Given the description of an element on the screen output the (x, y) to click on. 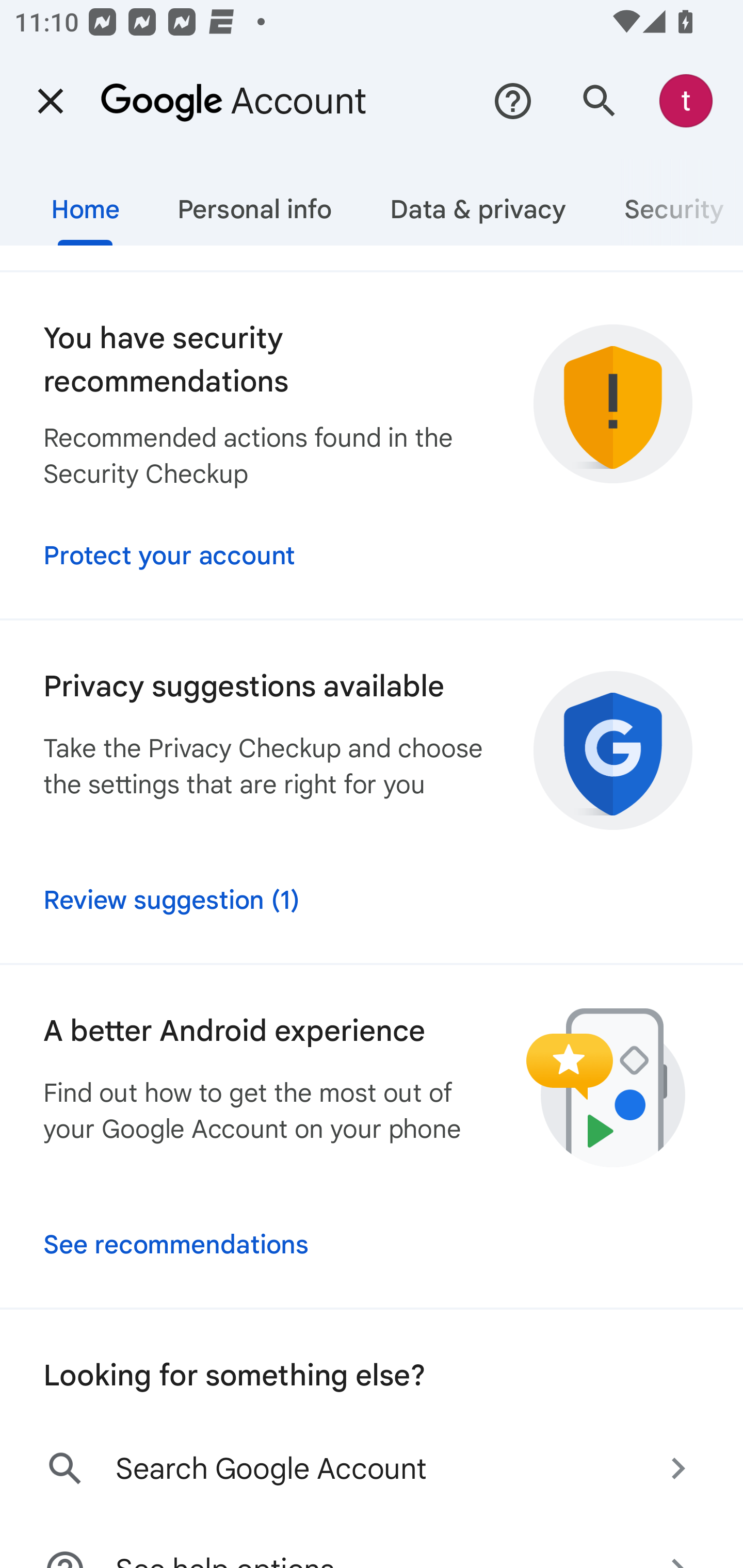
Close (50, 101)
Help (512, 101)
Search (599, 101)
Personal info (254, 202)
Data & privacy (477, 202)
Security (669, 202)
Search Google Account (371, 1468)
